Given the description of an element on the screen output the (x, y) to click on. 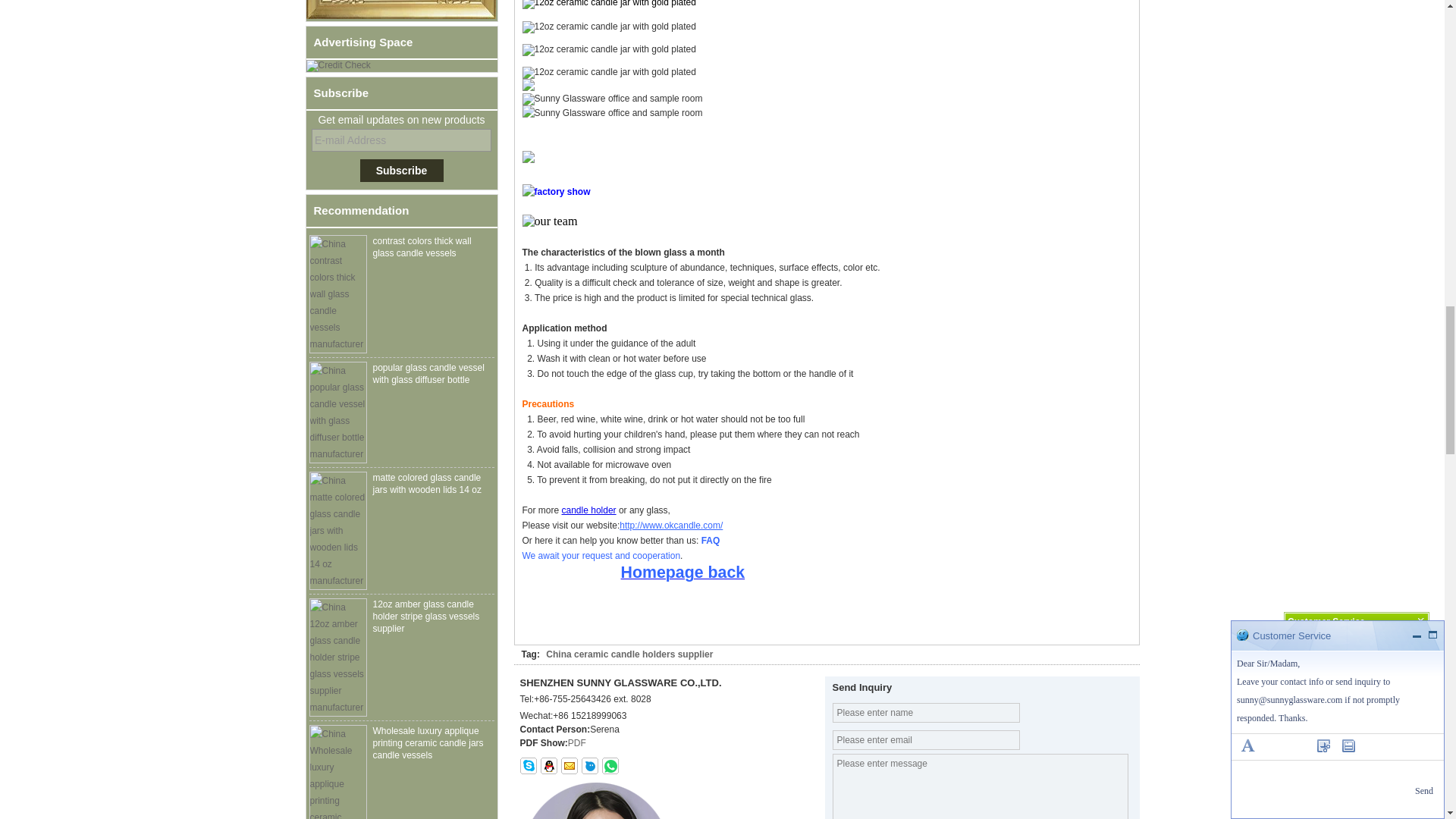
Subscribe (400, 169)
E-mail Address (401, 139)
